Given the description of an element on the screen output the (x, y) to click on. 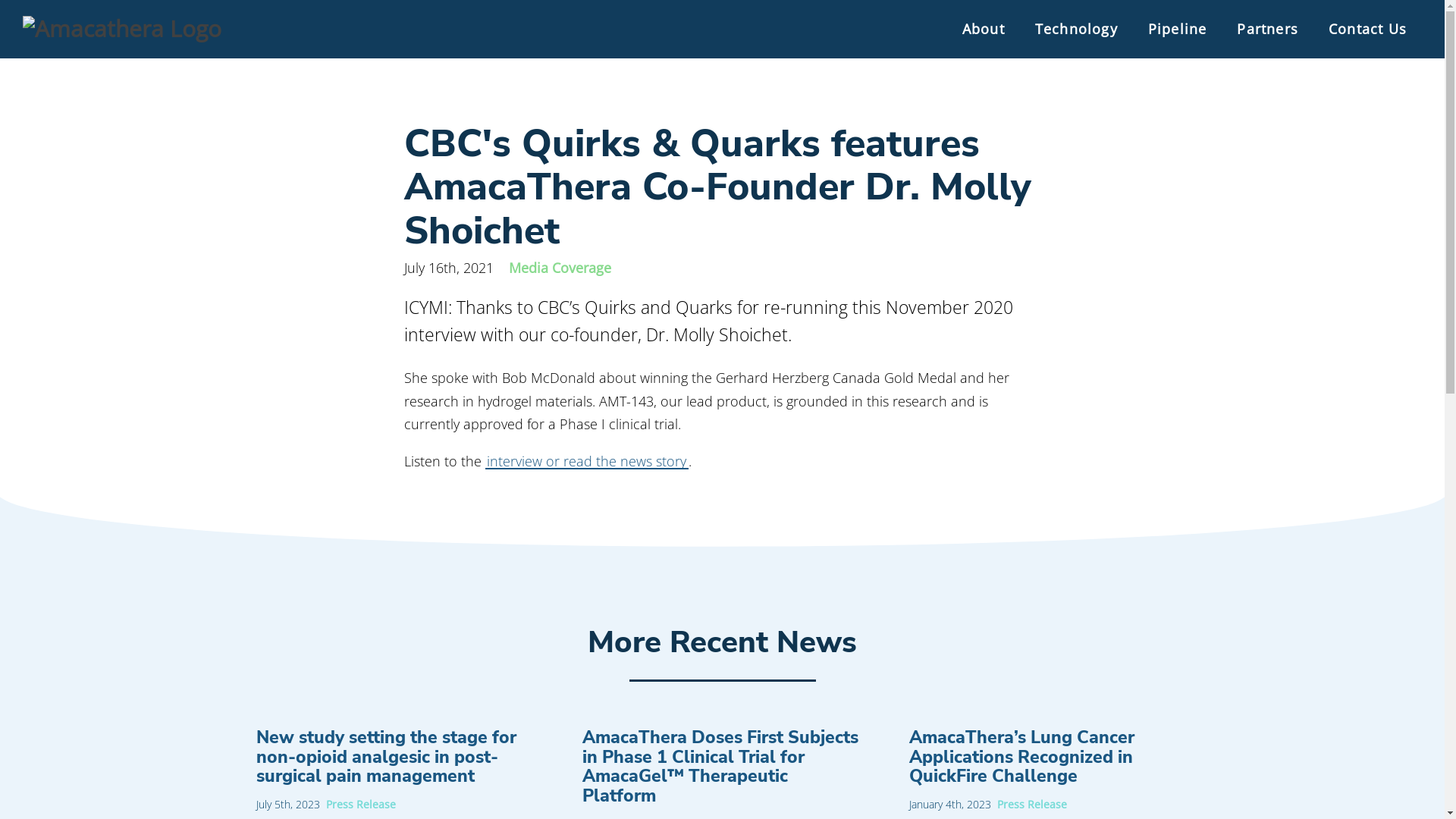
Technology Element type: text (1075, 28)
Contact Us Element type: text (1367, 28)
Partners Element type: text (1267, 28)
About Element type: text (983, 28)
interview or read the news story Element type: text (586, 460)
Pipeline Element type: text (1177, 28)
